Given the description of an element on the screen output the (x, y) to click on. 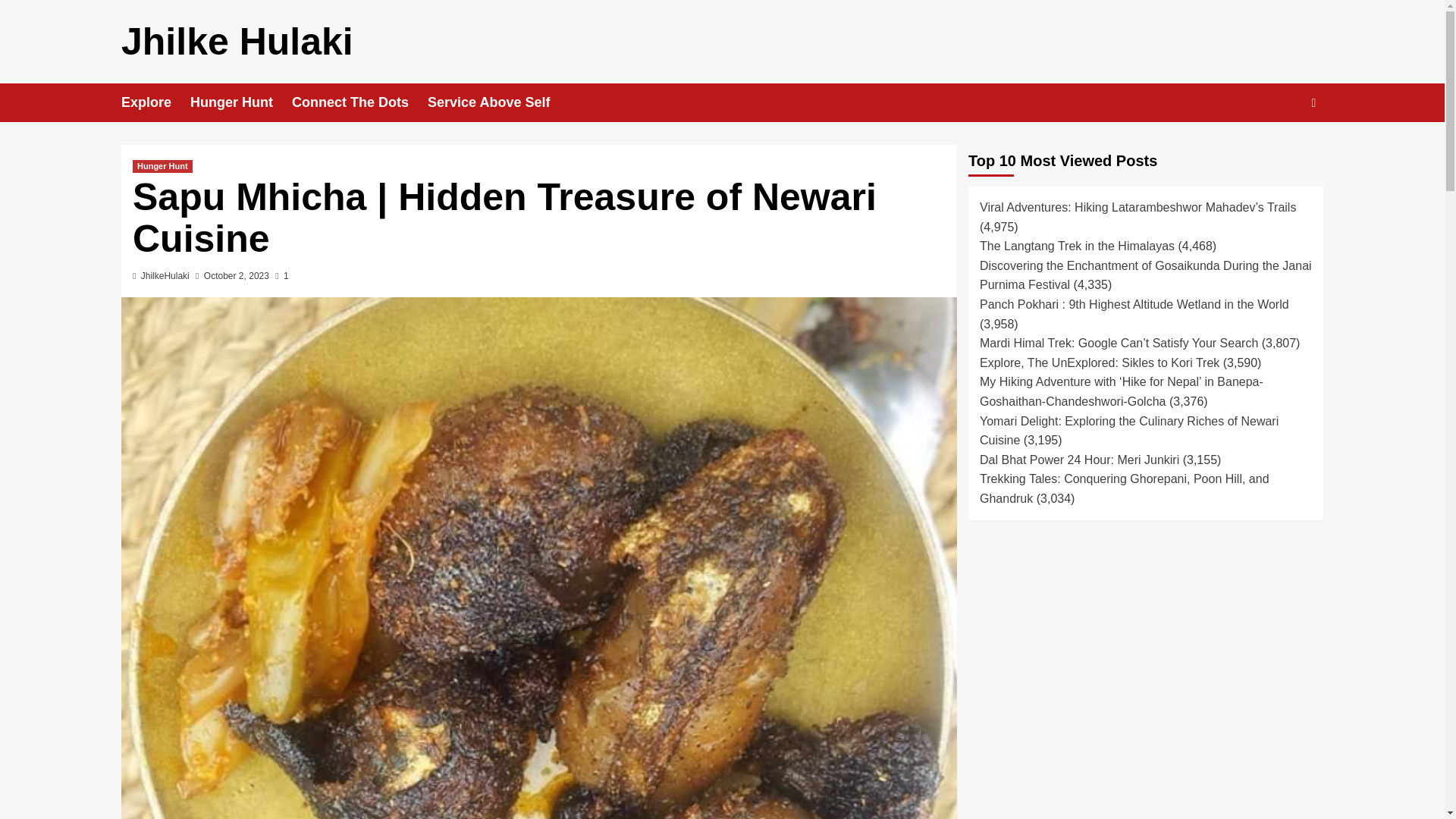
Jhilke Hulaki (236, 41)
1 (281, 276)
October 2, 2023 (236, 276)
Hunger Hunt (162, 165)
Service Above Self (498, 102)
Explore (155, 102)
Hunger Hunt (241, 102)
Connect The Dots (360, 102)
Search (1278, 148)
JhilkeHulaki (165, 276)
